Given the description of an element on the screen output the (x, y) to click on. 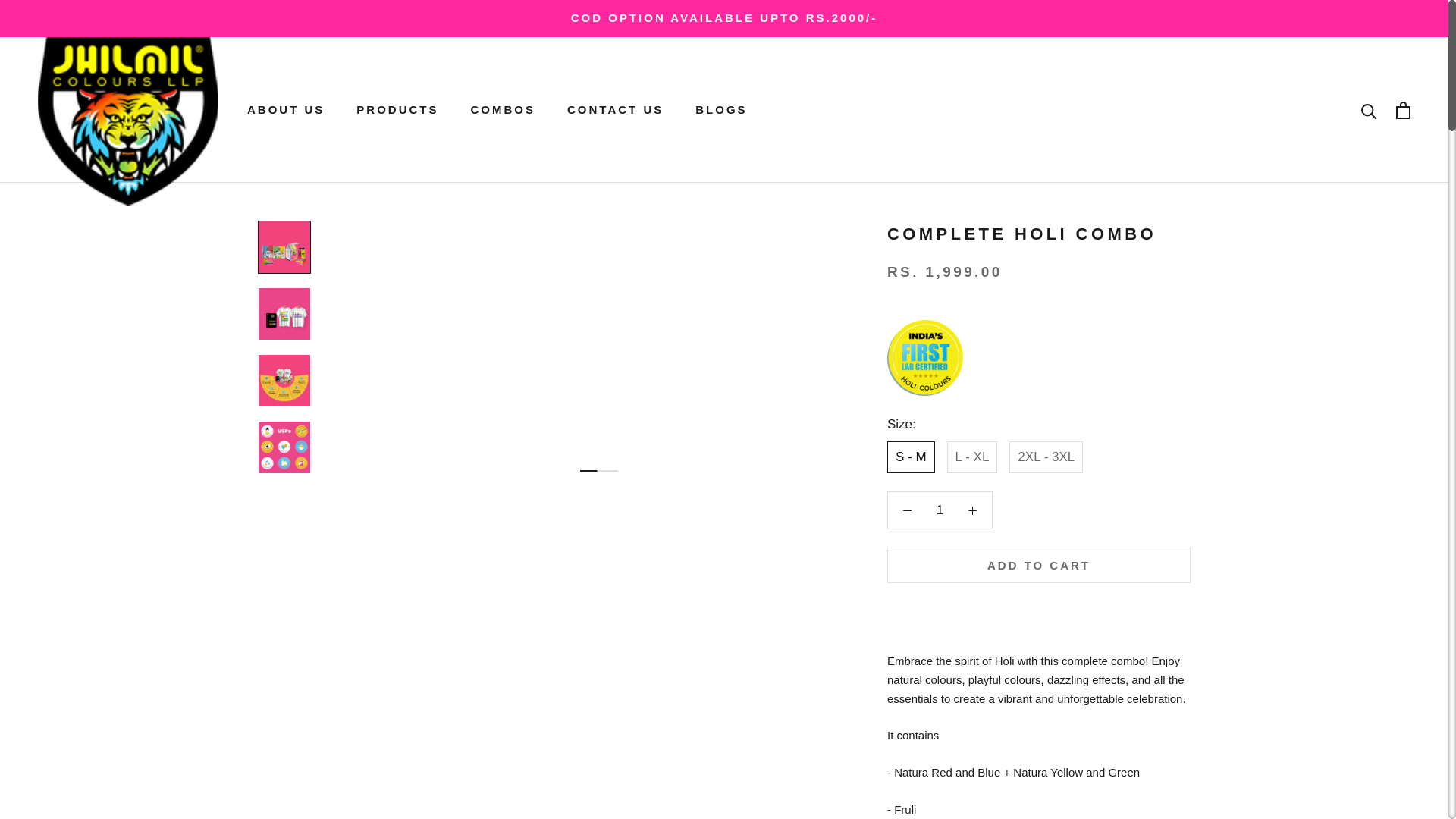
1 (502, 109)
